Given the description of an element on the screen output the (x, y) to click on. 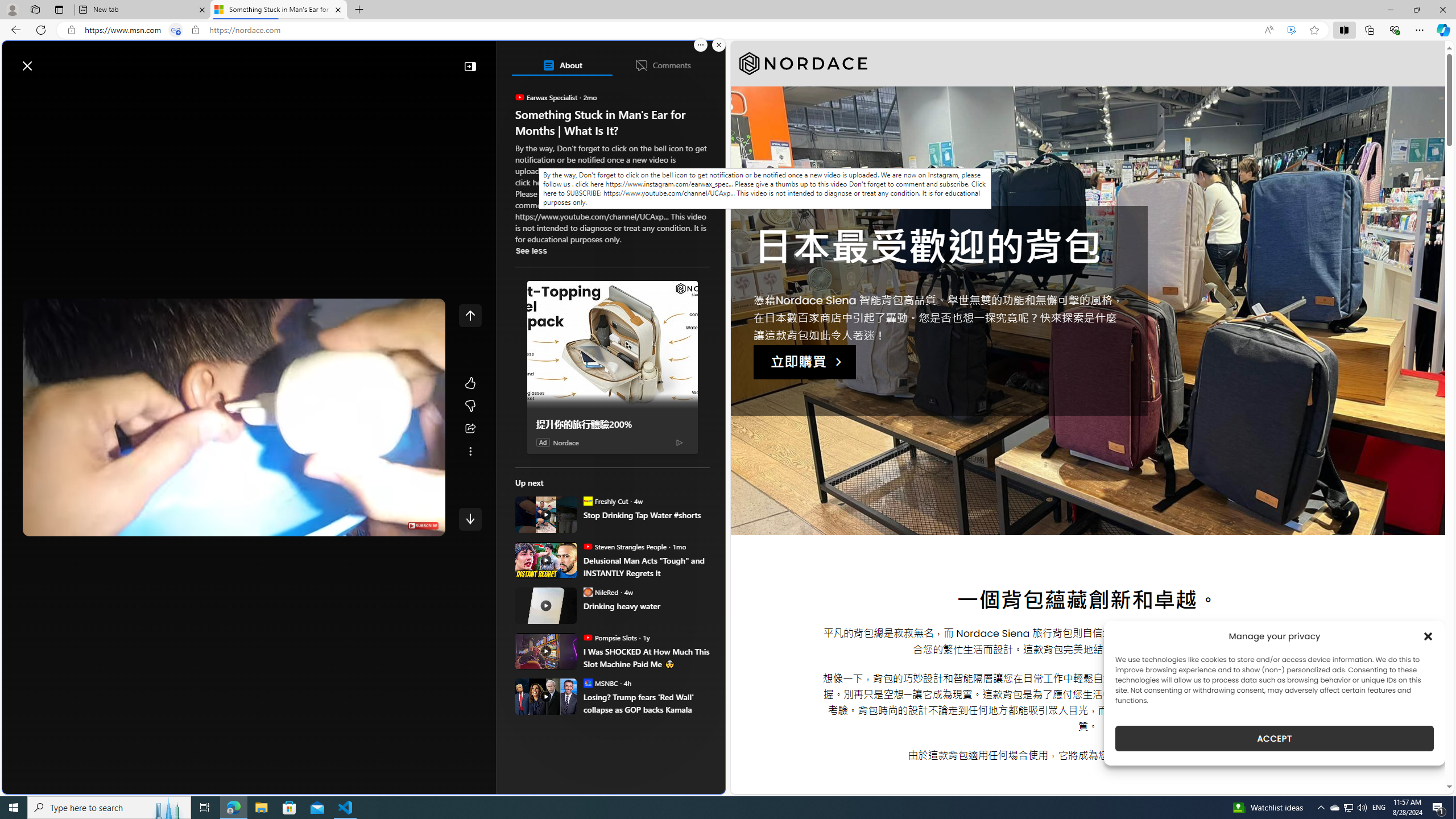
Share this story (469, 428)
Delusional Man Acts "Tough" and INSTANTLY Regrets It (545, 559)
Seek slider (233, 512)
Like (469, 382)
Class: control (469, 518)
Watch (141, 92)
Close (1442, 9)
Enter your search term (366, 59)
Channel watermark (422, 525)
Skip to content (49, 59)
Watch on YouTube (396, 525)
The Associated Press (554, 366)
